Given the description of an element on the screen output the (x, y) to click on. 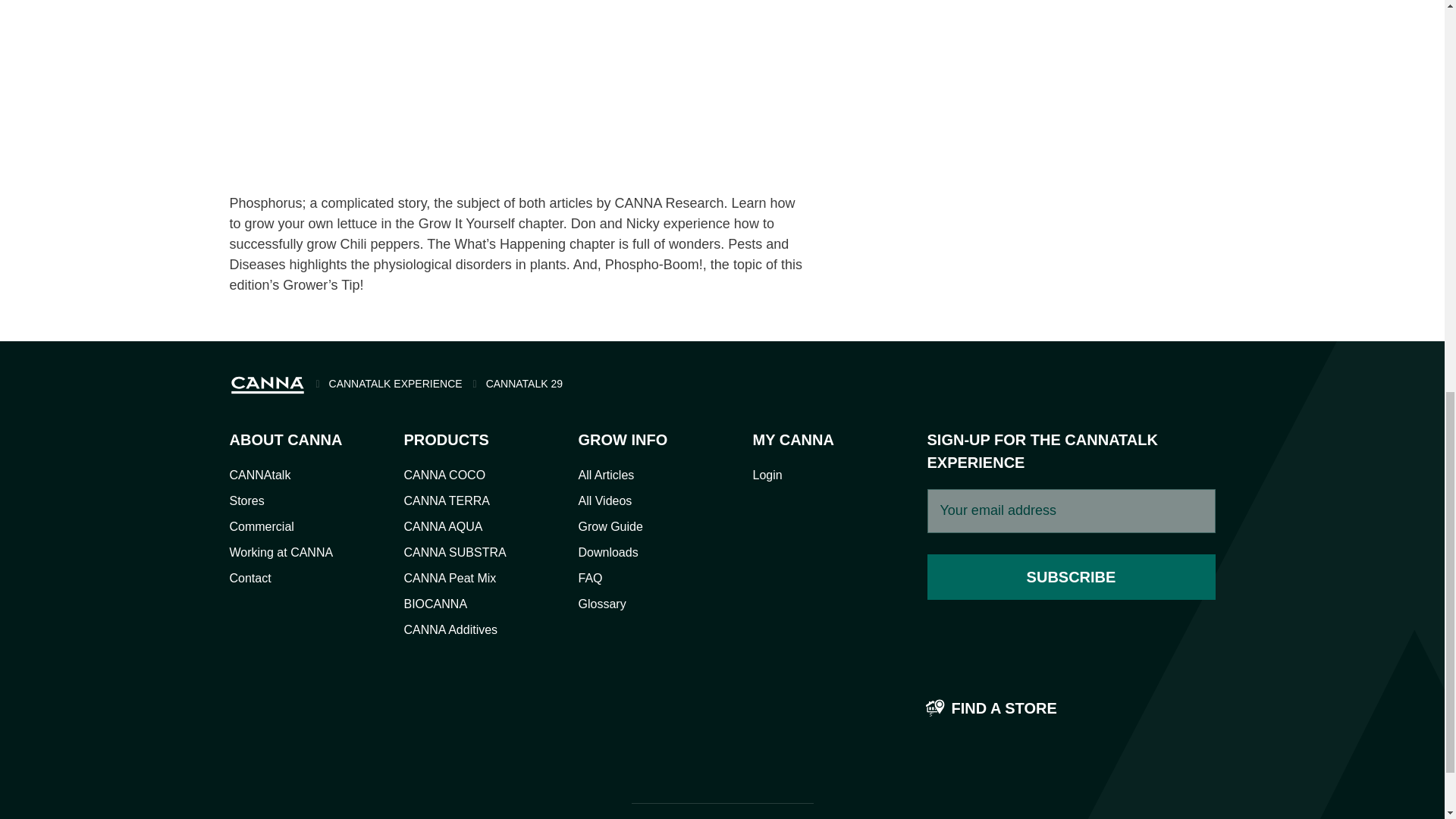
Grow Guide (610, 526)
Working at CANNA (280, 552)
All Articles (605, 474)
Subscribe (1070, 576)
Stores (245, 500)
Commercial (261, 526)
HOME (266, 384)
PRODUCTS (459, 439)
CANNA AQUA (442, 526)
CANNA Peat Mix (449, 577)
Downloads (607, 552)
All Videos (604, 500)
GROW INFO (634, 439)
ABOUT CANNA (285, 439)
CANNA TERRA (446, 500)
